Given the description of an element on the screen output the (x, y) to click on. 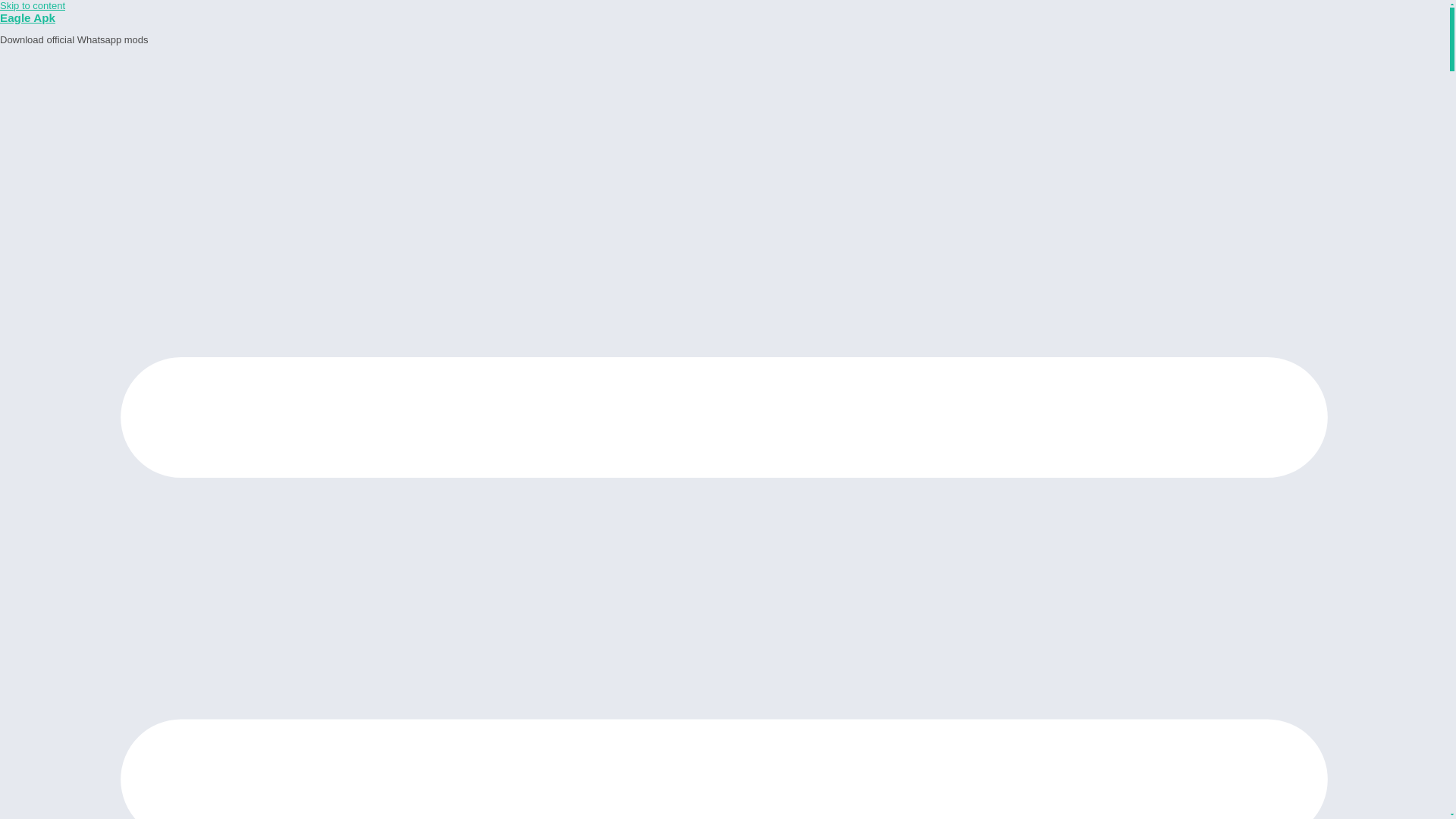
Skip to content (32, 5)
Eagle Apk (27, 17)
Eagle Apk (27, 17)
